Given the description of an element on the screen output the (x, y) to click on. 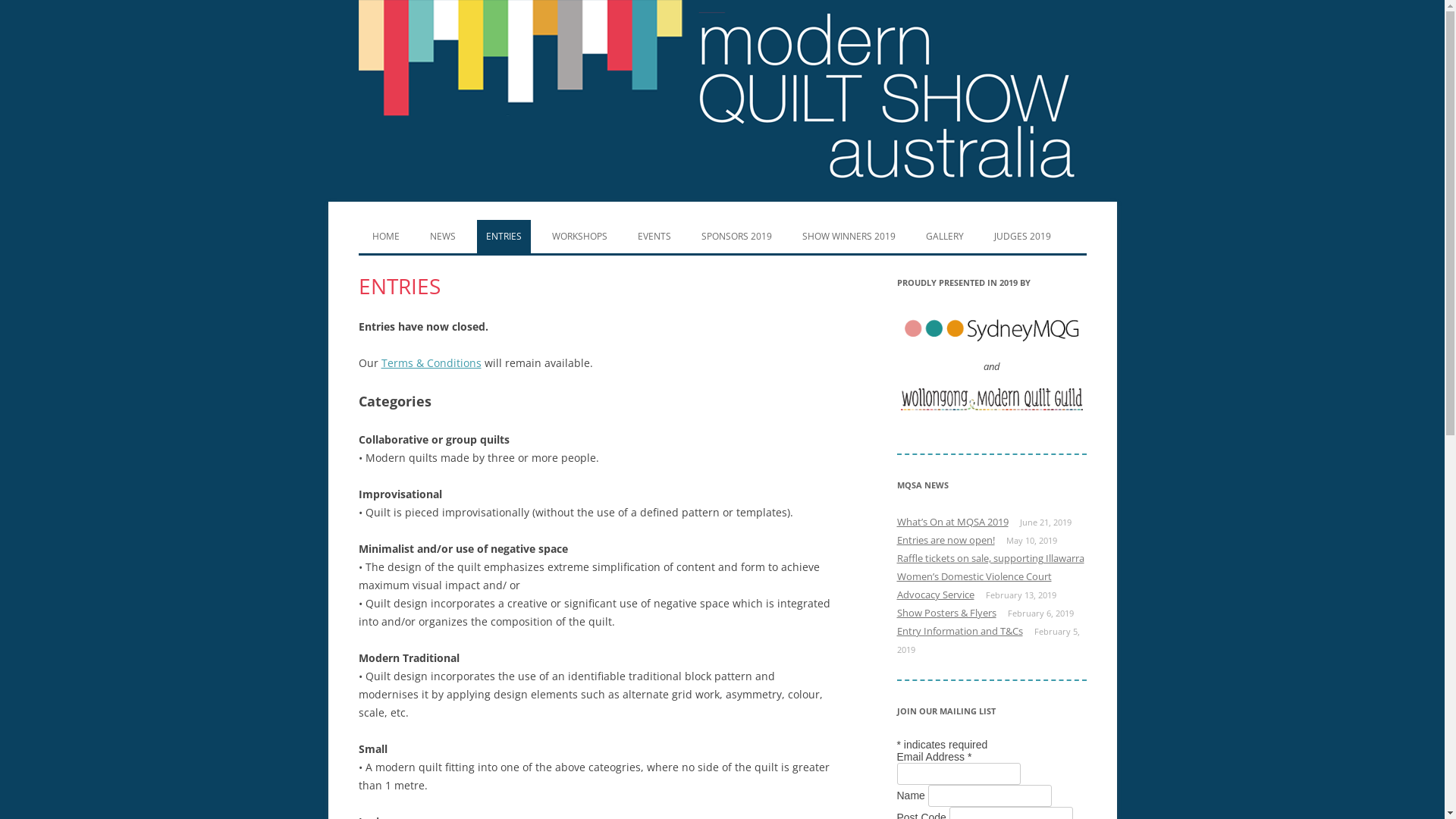
GALLERY Element type: text (944, 236)
TERMS AND CONDITIONS Element type: text (552, 266)
Show Posters & Flyers Element type: text (945, 612)
SHOW WINNERS 2019 Element type: text (848, 236)
EVENTS Element type: text (653, 236)
ENTRIES Element type: text (503, 236)
Entries are now open! Element type: text (945, 539)
NEWS Element type: text (442, 236)
SPONSORS 2019 Element type: text (735, 236)
SHOW WINNERS 2017 Element type: text (869, 266)
SPONSORS 2017 Element type: text (767, 266)
JUDGES 2019 Element type: text (1021, 236)
WORKSHOPS Element type: text (579, 236)
Terms & Conditions Element type: text (430, 362)
HOME Element type: text (384, 236)
Skip to content Element type: text (721, 219)
Entry Information and T&Cs Element type: text (959, 630)
